Given the description of an element on the screen output the (x, y) to click on. 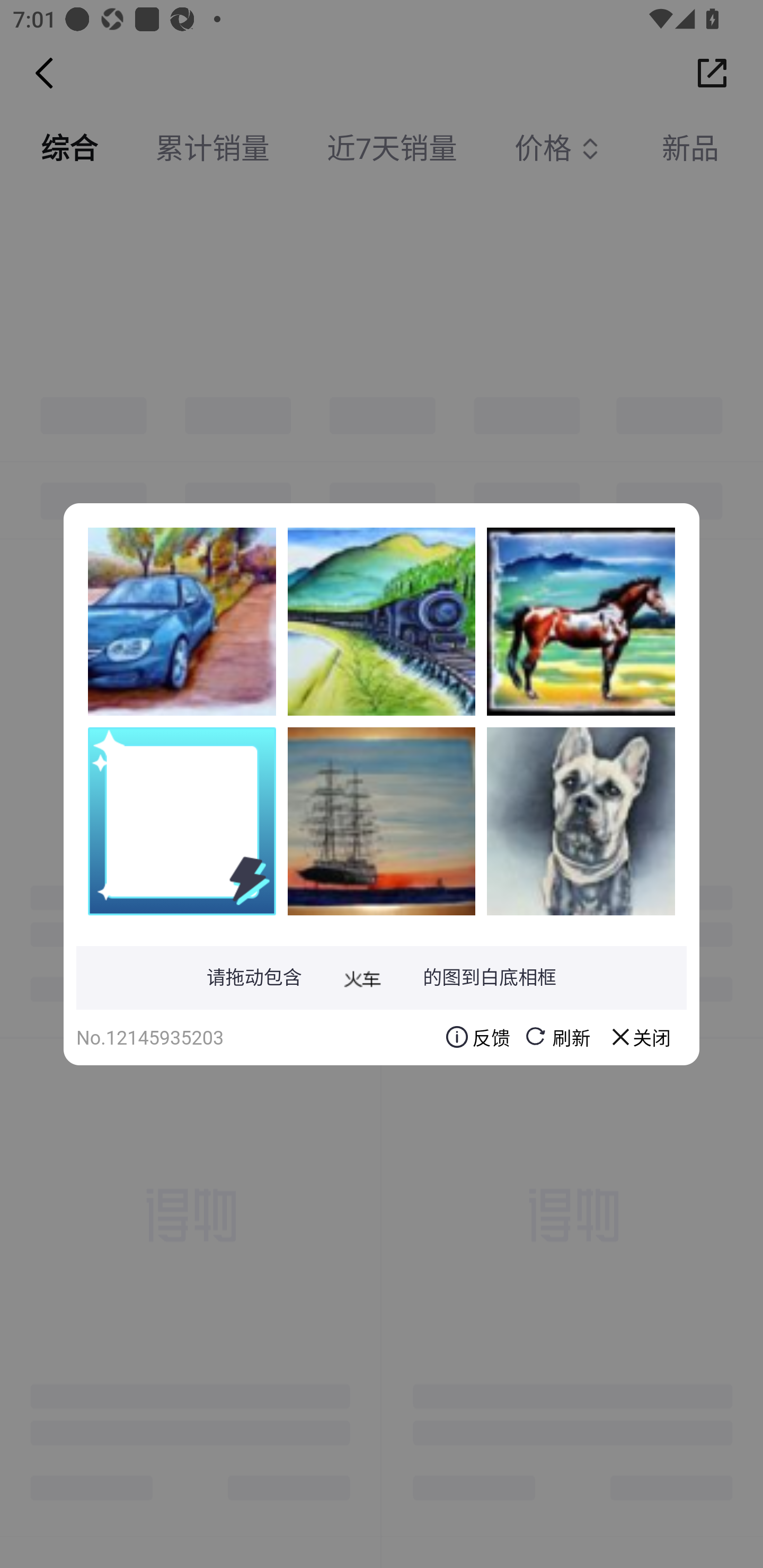
RtvaBl5qwwz9pmeKxpzD (580, 820)
